Given the description of an element on the screen output the (x, y) to click on. 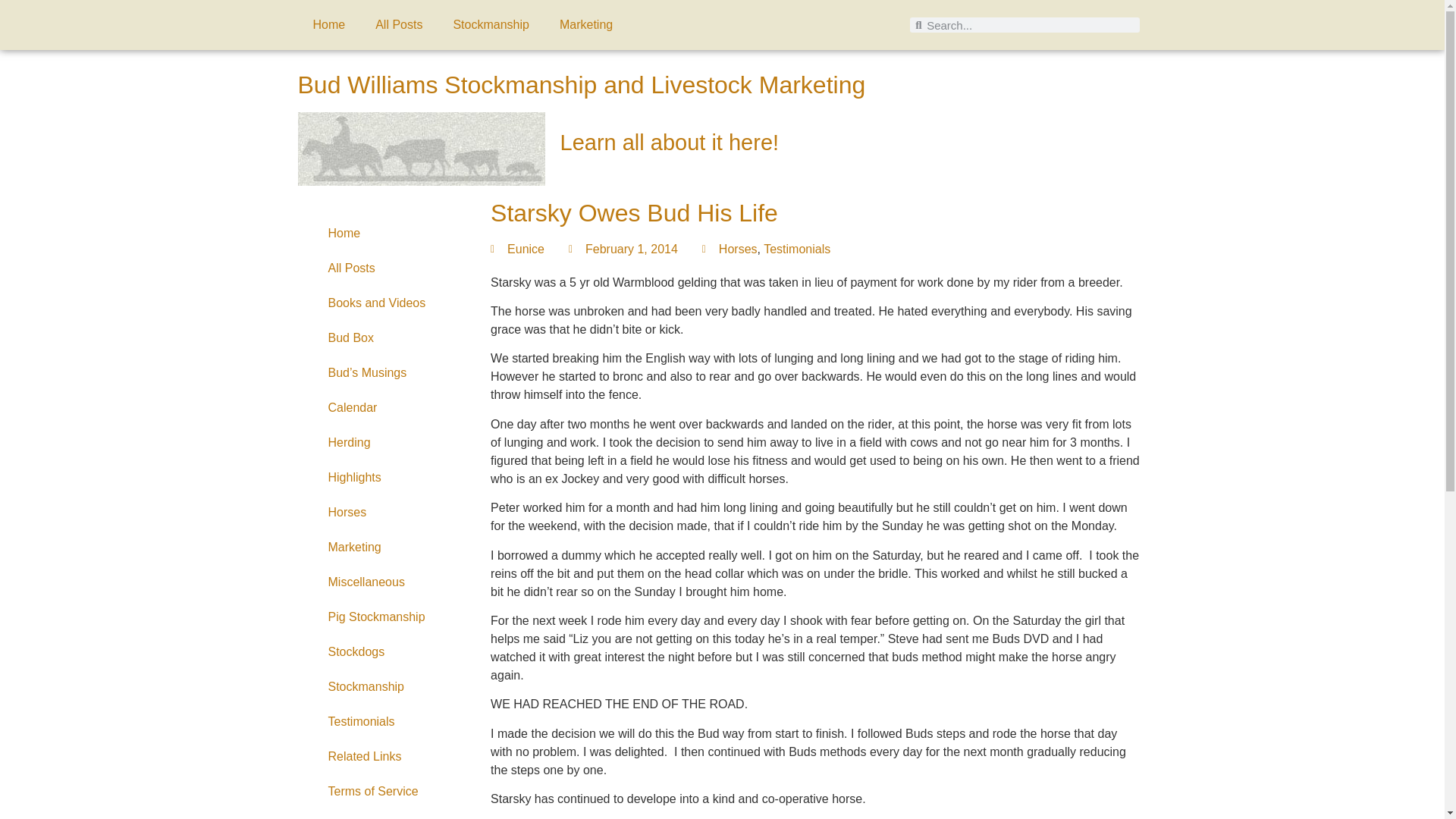
Home (328, 24)
Books and Videos (386, 303)
Stockdogs (386, 651)
Pig Stockmanship (386, 616)
Miscellaneous (386, 582)
Stockmanship (491, 24)
Subscription Website Information (386, 814)
Stockmanship (386, 686)
Bud Box (386, 338)
Related Links (386, 756)
